Given the description of an element on the screen output the (x, y) to click on. 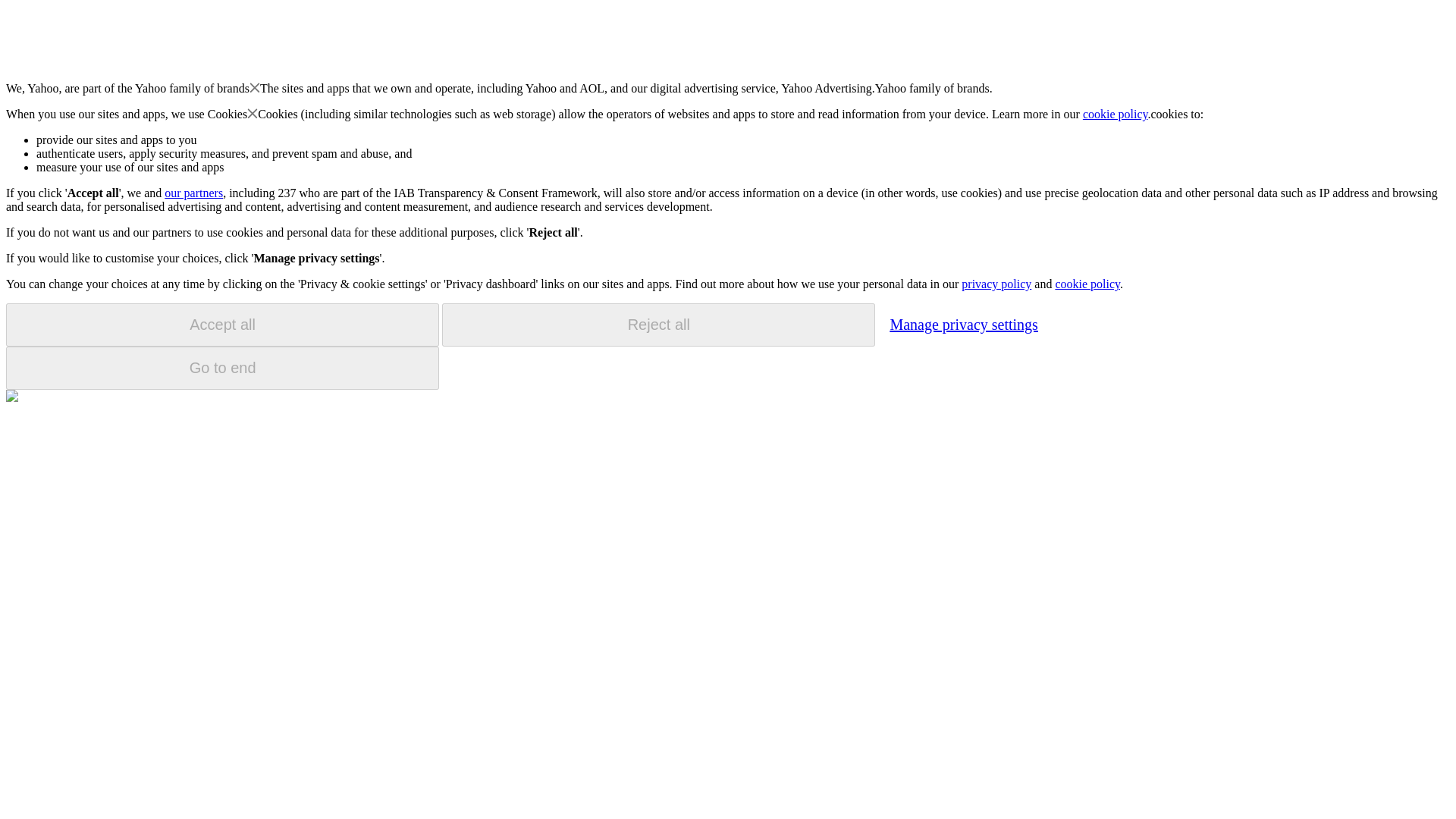
Go to end (222, 367)
cookie policy (1086, 283)
Reject all (658, 324)
Manage privacy settings (963, 323)
privacy policy (995, 283)
our partners (193, 192)
Accept all (222, 324)
cookie policy (1115, 113)
